Given the description of an element on the screen output the (x, y) to click on. 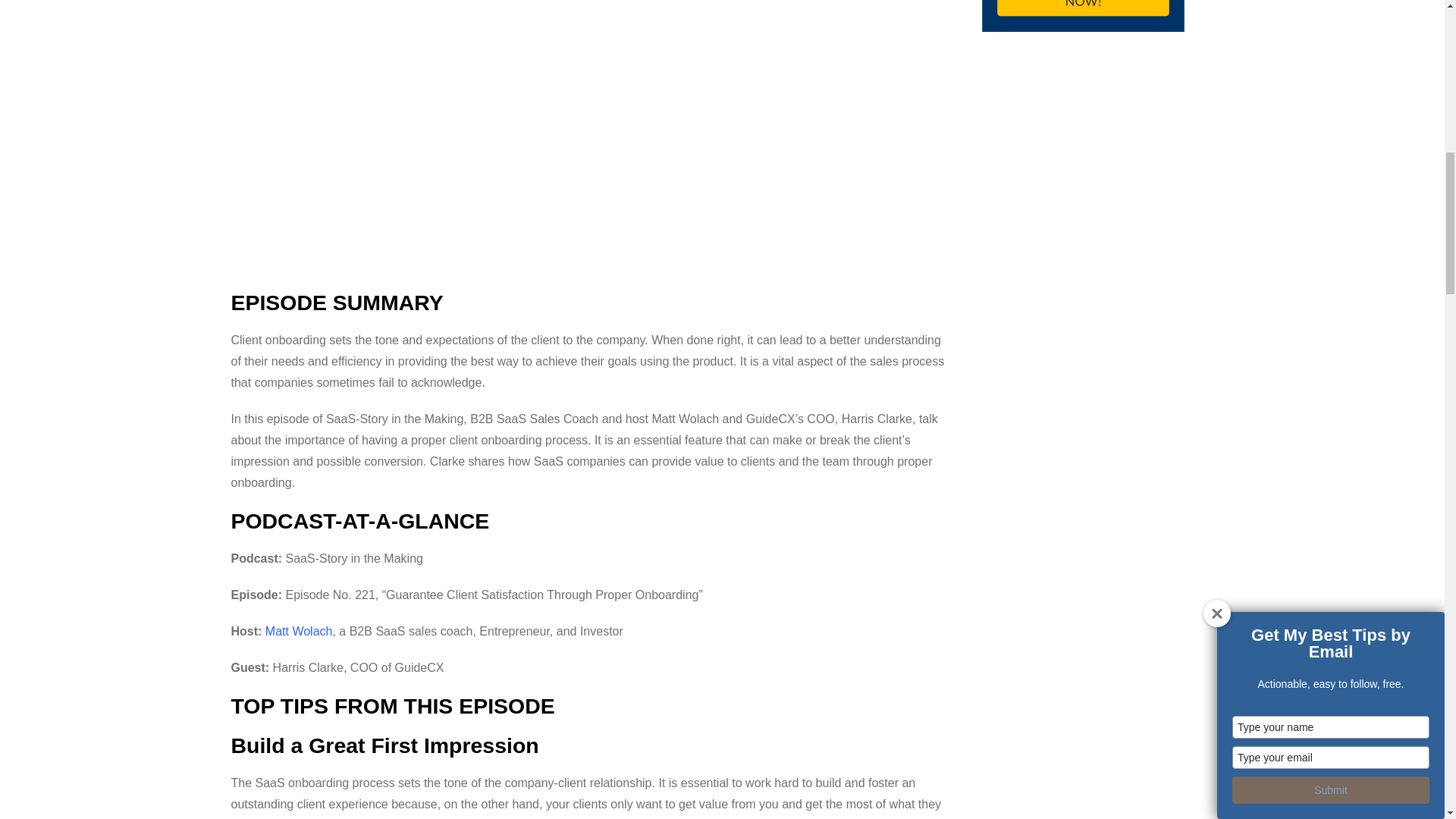
How to Keep the Customers You Close - with Harris Clarke (457, 140)
Matt Wolach (298, 631)
